Given the description of an element on the screen output the (x, y) to click on. 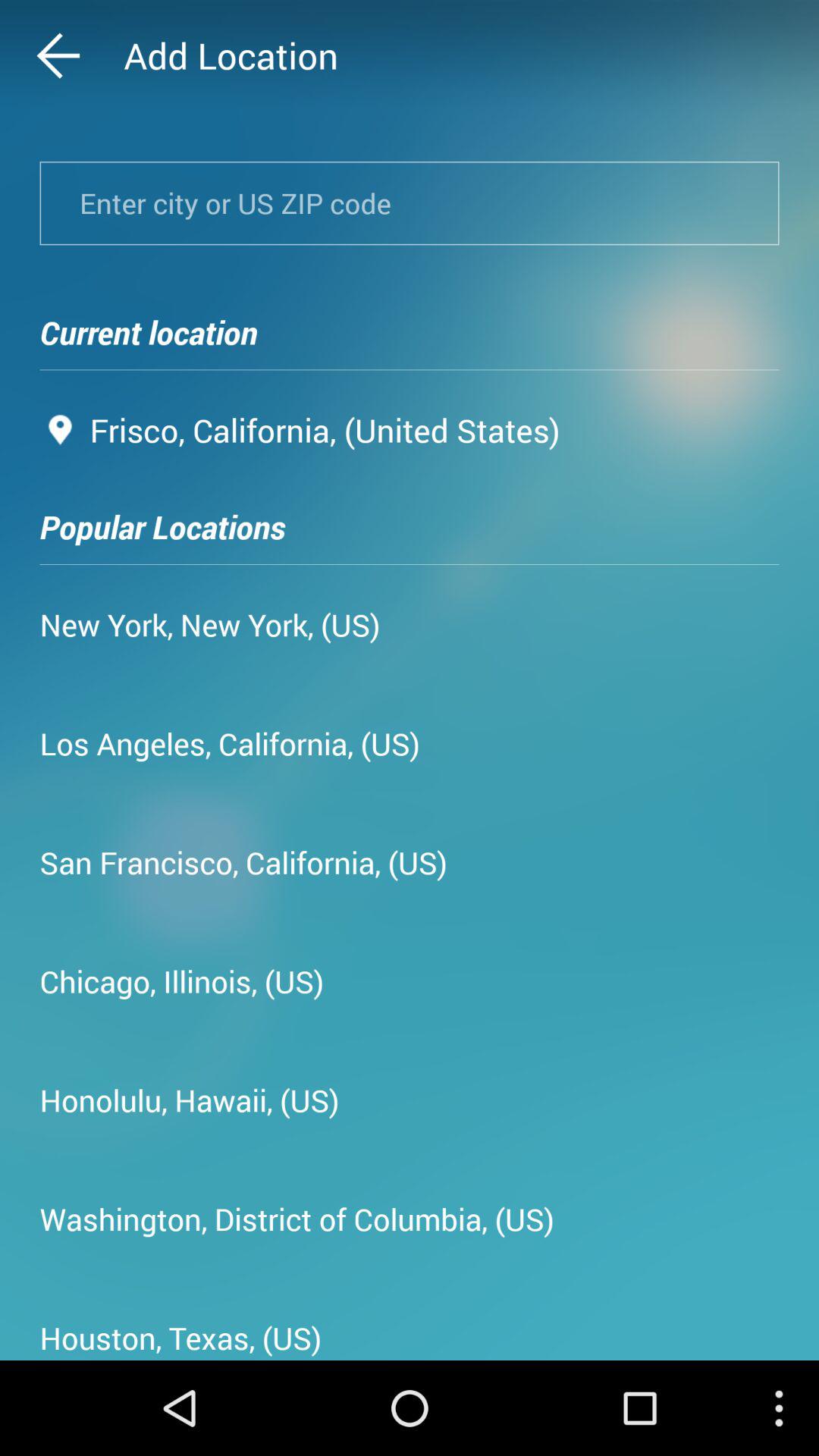
jump to los angeles california app (230, 742)
